Given the description of an element on the screen output the (x, y) to click on. 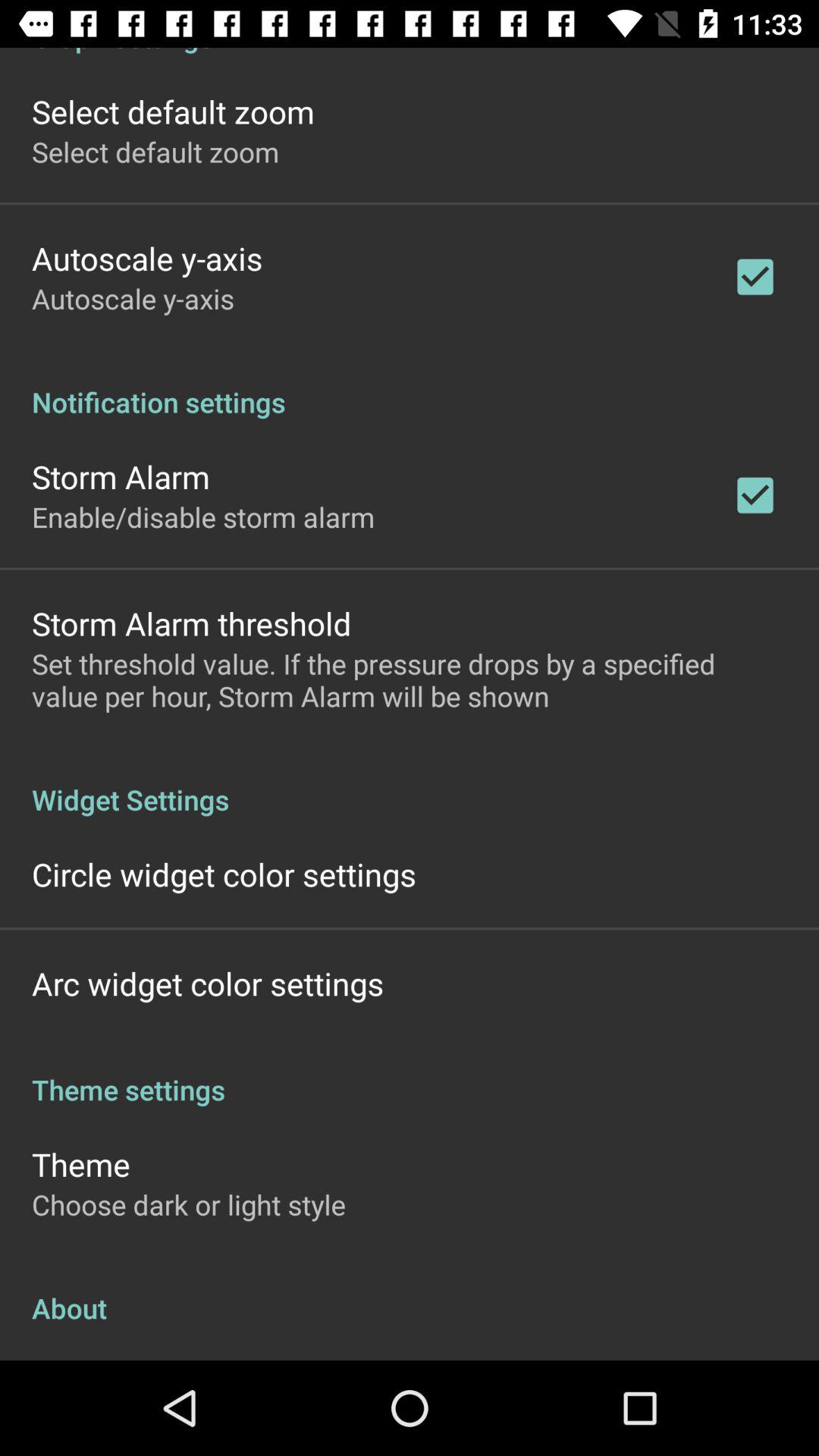
press the icon below autoscale y-axis icon (409, 385)
